Given the description of an element on the screen output the (x, y) to click on. 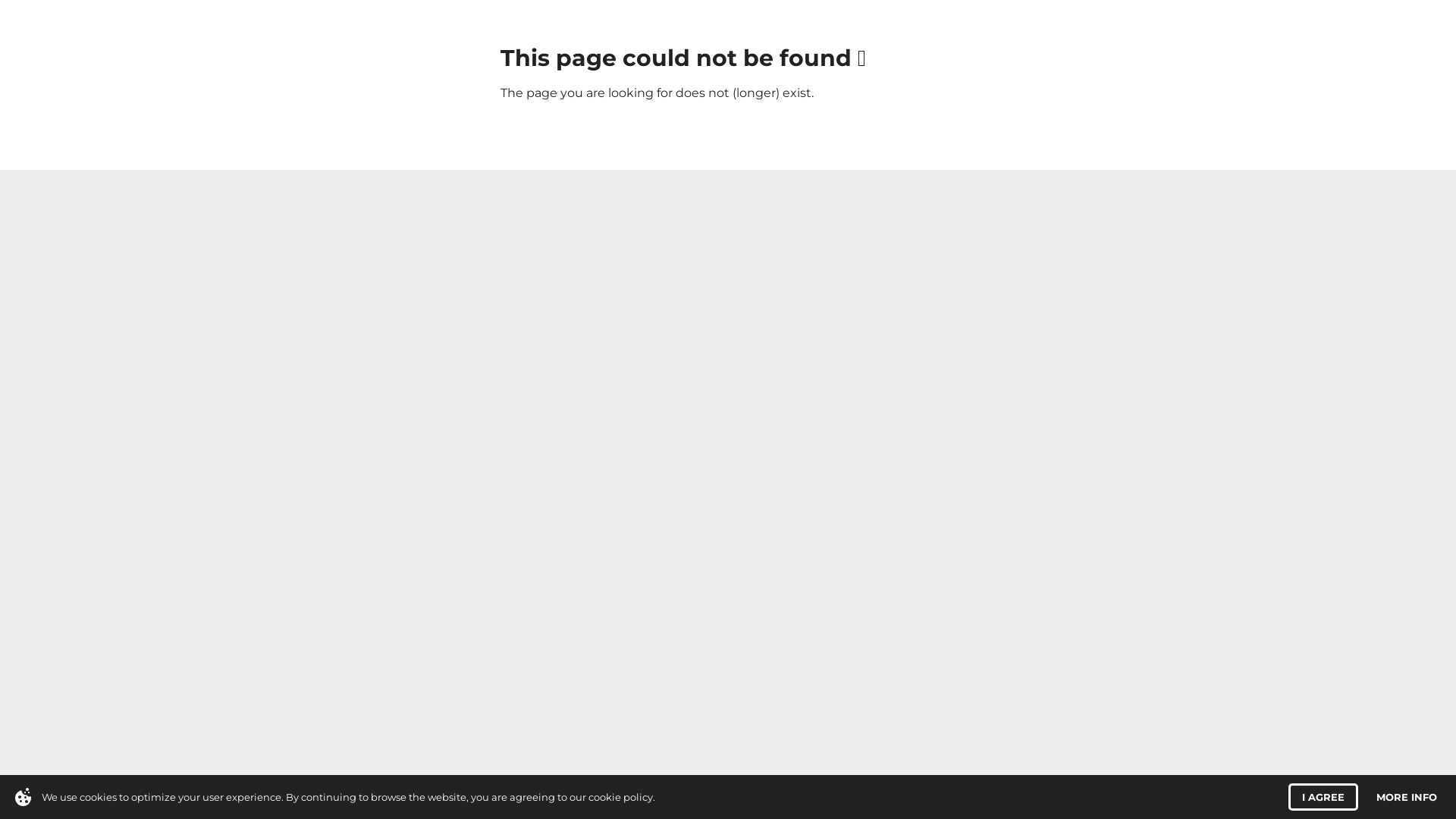
MORE INFO Element type: text (1406, 796)
I AGREE Element type: text (1323, 796)
